Given the description of an element on the screen output the (x, y) to click on. 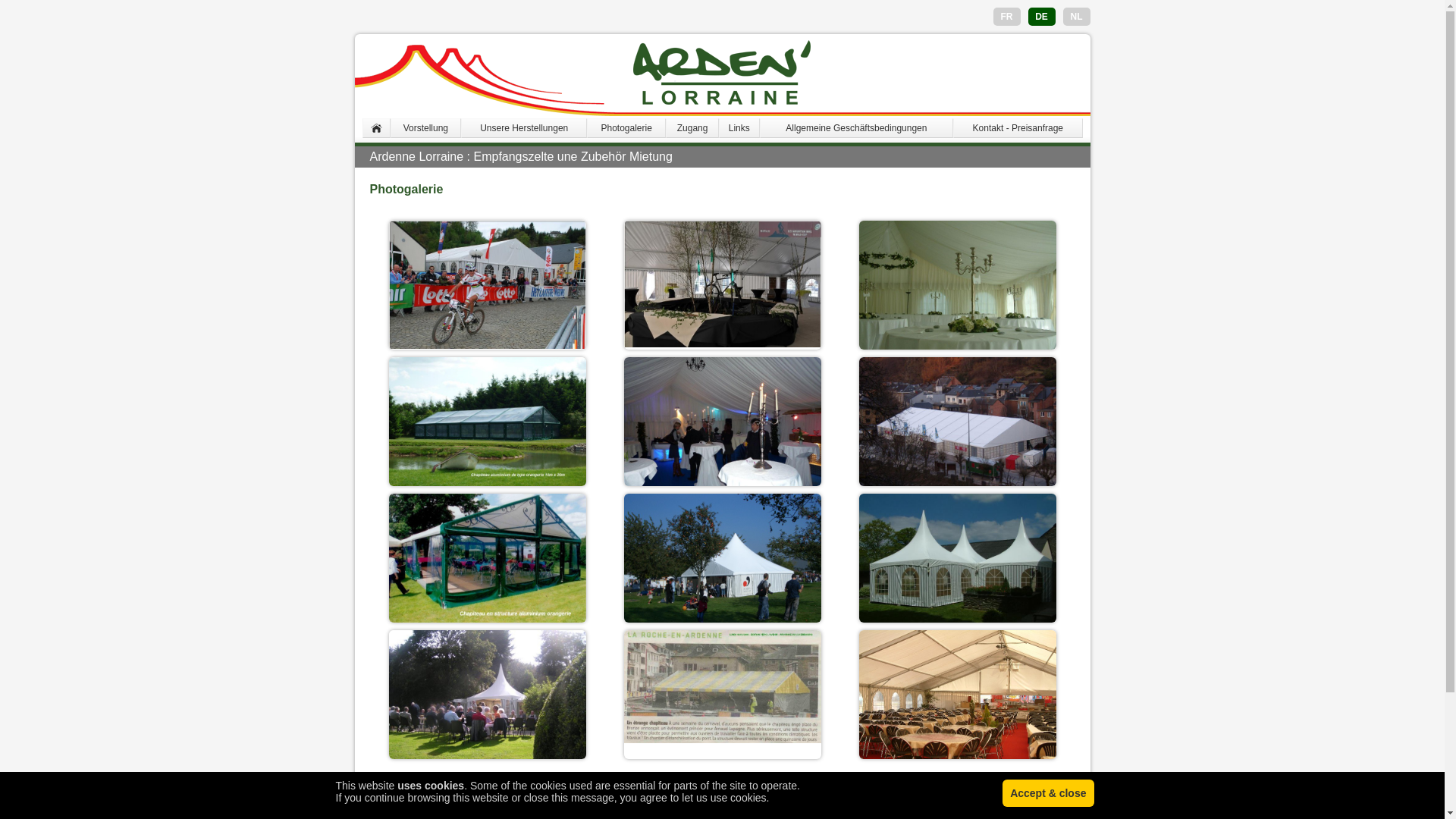
Unsere Herstellungen Element type: text (523, 127)
5 Element type: text (740, 790)
:  Element type: hover (486, 431)
:  Element type: hover (486, 284)
:  Element type: hover (486, 558)
NL Element type: text (1076, 16)
:  Element type: hover (956, 704)
:  Element type: hover (956, 567)
:  Element type: hover (486, 704)
7 Element type: text (782, 790)
:  Element type: hover (956, 431)
Links Element type: text (738, 127)
:  Element type: hover (721, 431)
:  Element type: hover (956, 294)
:  Element type: hover (721, 686)
Kontakt - Preisanfrage Element type: text (1017, 127)
Photogalerie Element type: text (625, 127)
Vorstellung Element type: text (425, 127)
Accept & close Element type: text (1047, 792)
2 Element type: text (677, 790)
FR Element type: text (1007, 16)
:  Element type: hover (721, 567)
3 Element type: text (698, 790)
uses cookies Element type: text (430, 785)
6 Element type: text (761, 790)
1 Element type: text (656, 790)
:  Element type: hover (721, 283)
Zugang Element type: text (692, 127)
DE Element type: text (1041, 16)
